Given the description of an element on the screen output the (x, y) to click on. 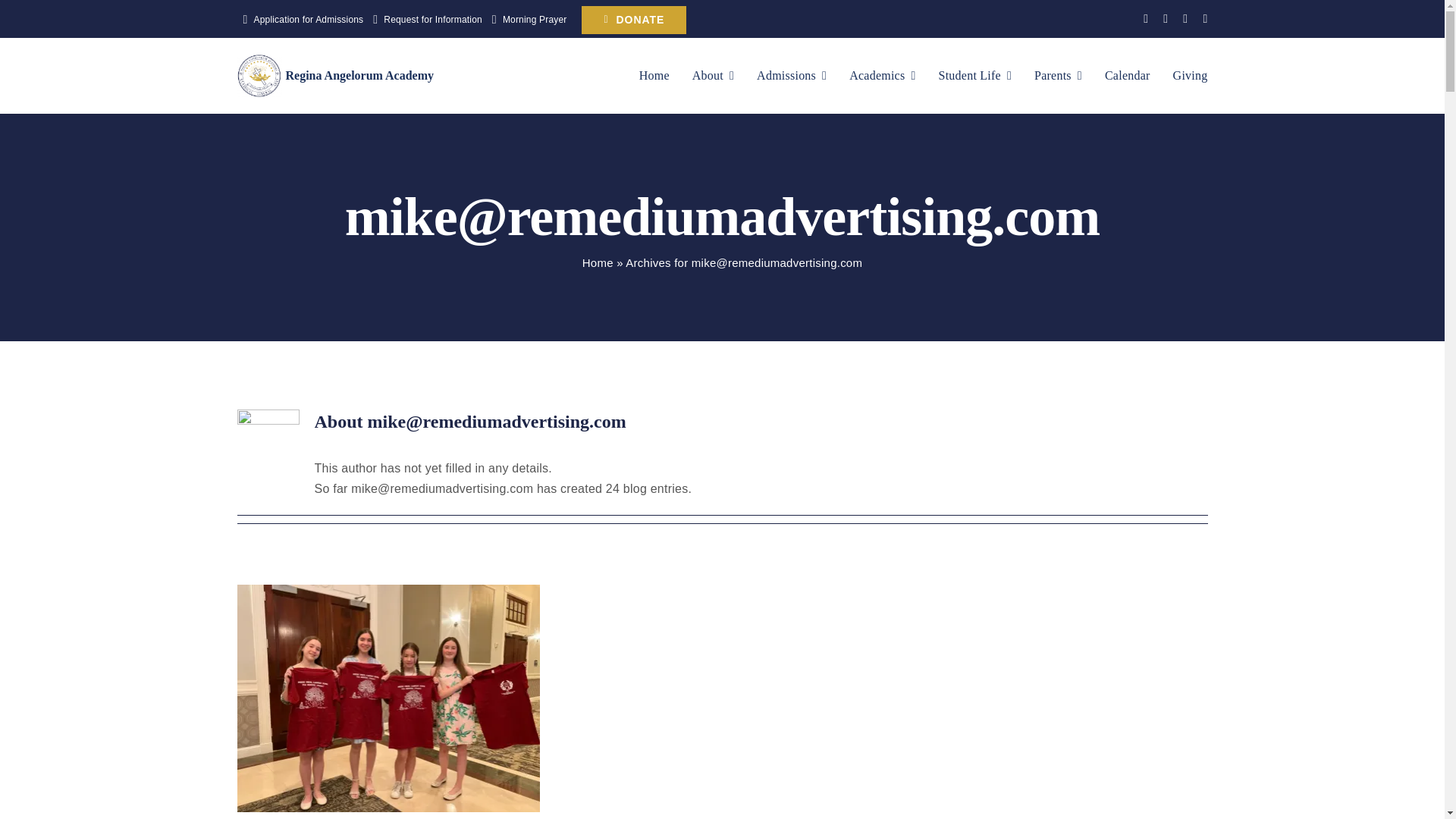
DONATE (632, 19)
Academics (881, 75)
Application for Admissions (298, 19)
RAA-Logo-Seal (258, 75)
Request for Information (423, 19)
Morning Prayer (526, 19)
Admissions (792, 75)
